Given the description of an element on the screen output the (x, y) to click on. 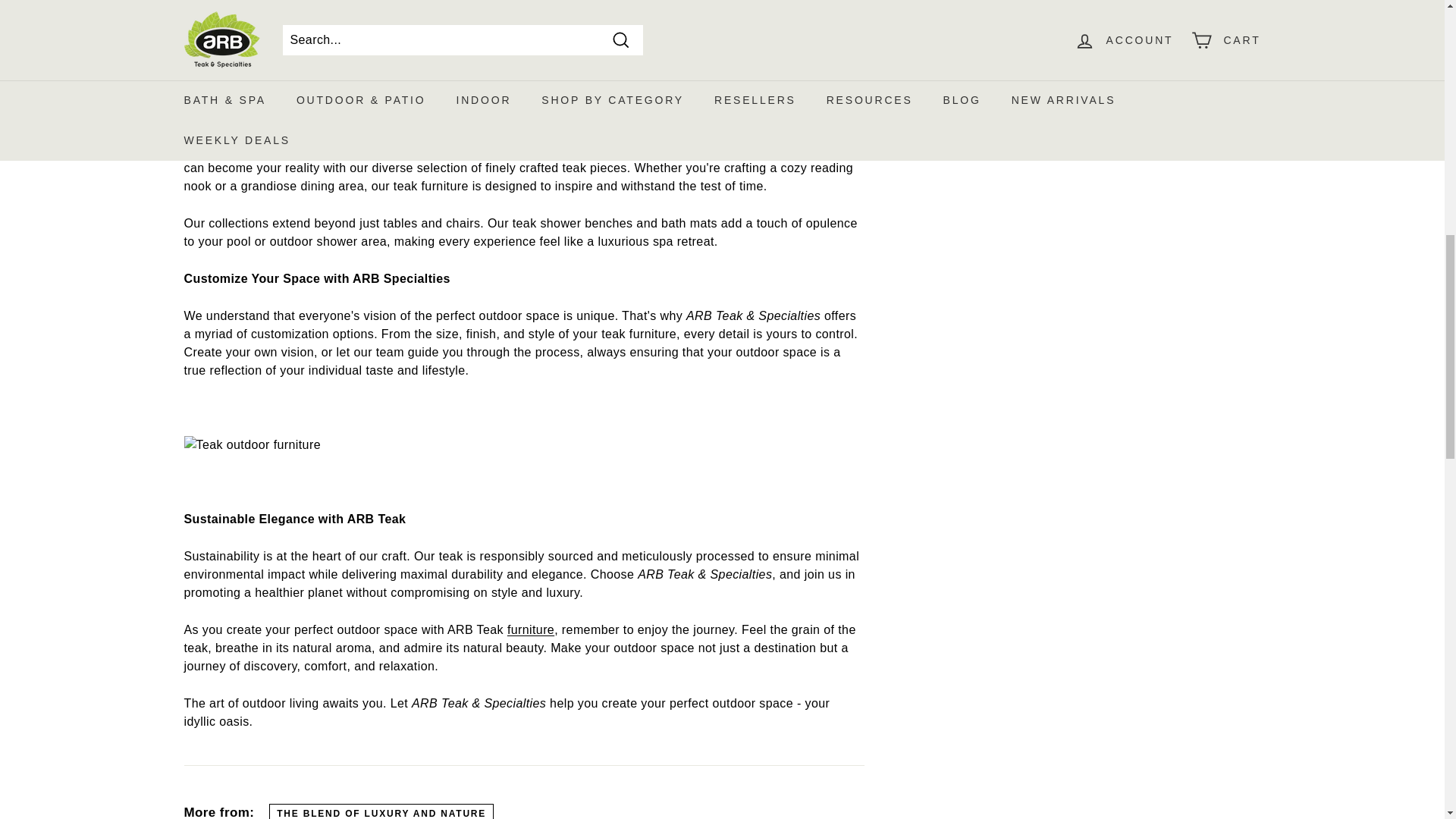
Teak furniture (530, 629)
